Given the description of an element on the screen output the (x, y) to click on. 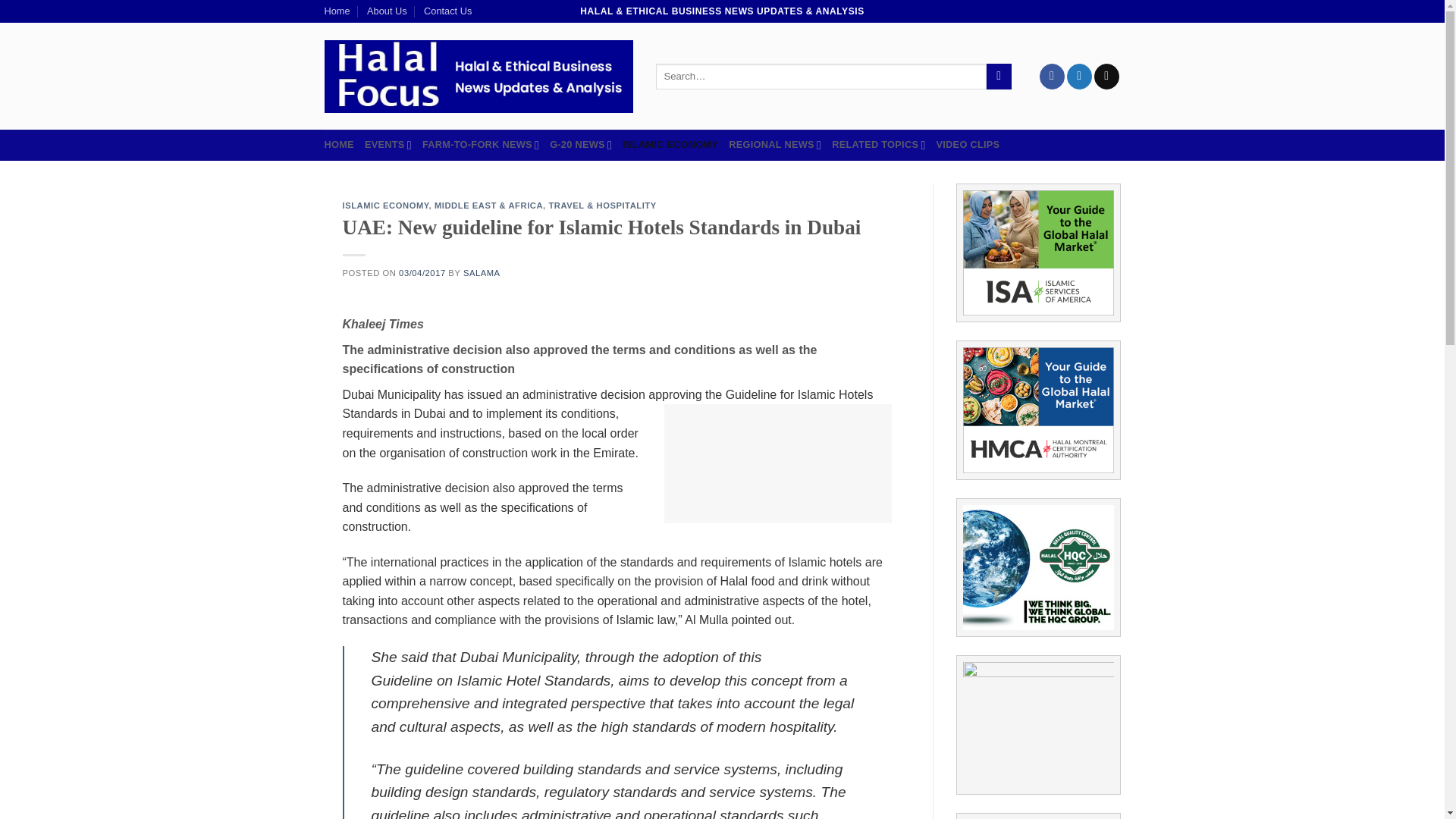
G-20 NEWS (580, 144)
HOME (338, 144)
Home (337, 11)
EVENTS (388, 144)
Send us an email (1106, 76)
Contact Us (447, 11)
Follow on Facebook (1051, 76)
About Us (386, 11)
FARM-TO-FORK NEWS (480, 144)
Follow on Twitter (1079, 76)
